Given the description of an element on the screen output the (x, y) to click on. 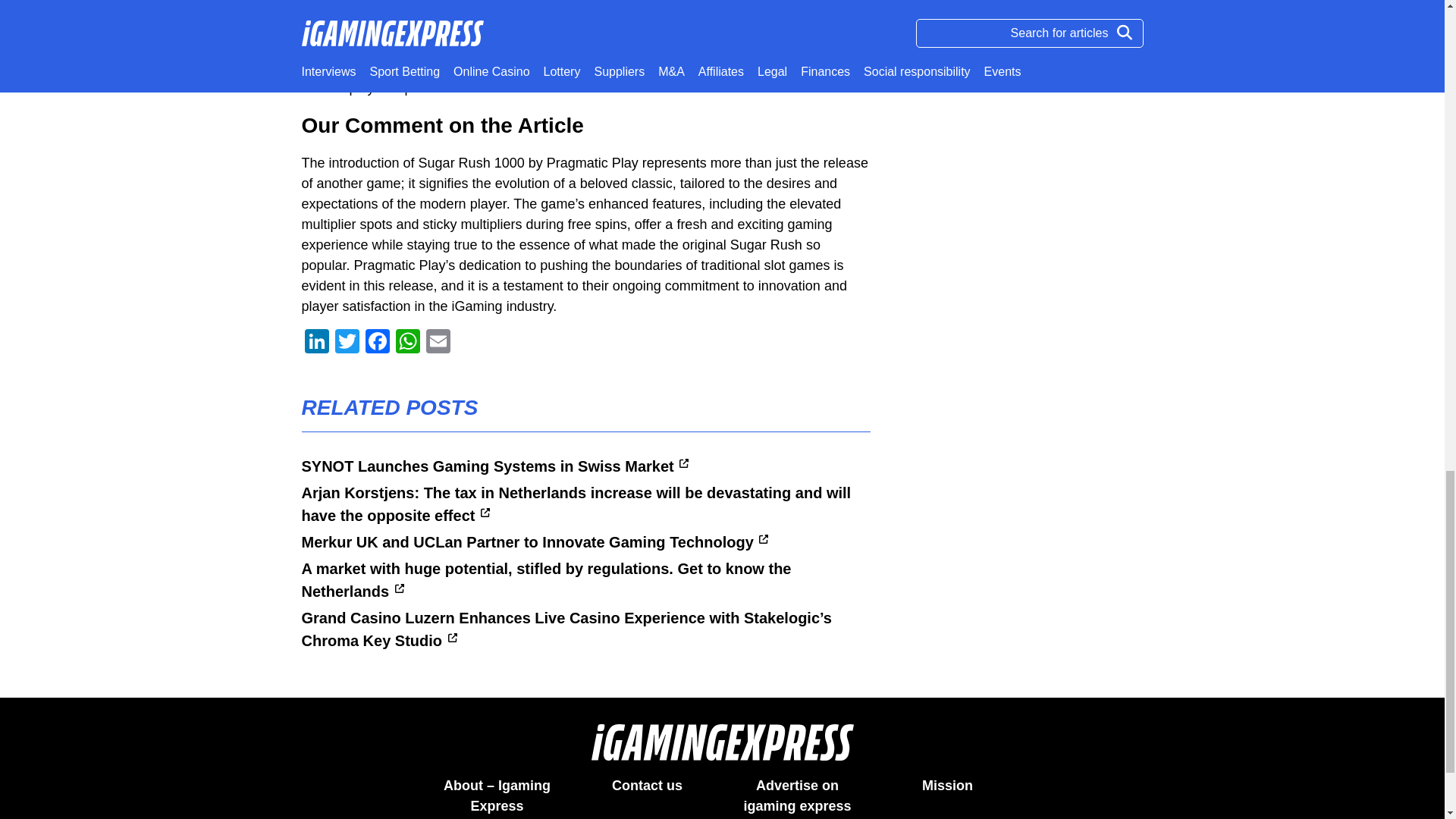
WhatsApp (408, 343)
Contact us (646, 785)
WhatsApp (408, 343)
Email (437, 343)
LinkedIn (316, 343)
Facebook (377, 343)
Twitter (346, 343)
LinkedIn (316, 343)
Twitter (346, 343)
SYNOT Launches Gaming Systems in Swiss Market (494, 466)
Email (437, 343)
Facebook (377, 343)
Mission (946, 785)
